Given the description of an element on the screen output the (x, y) to click on. 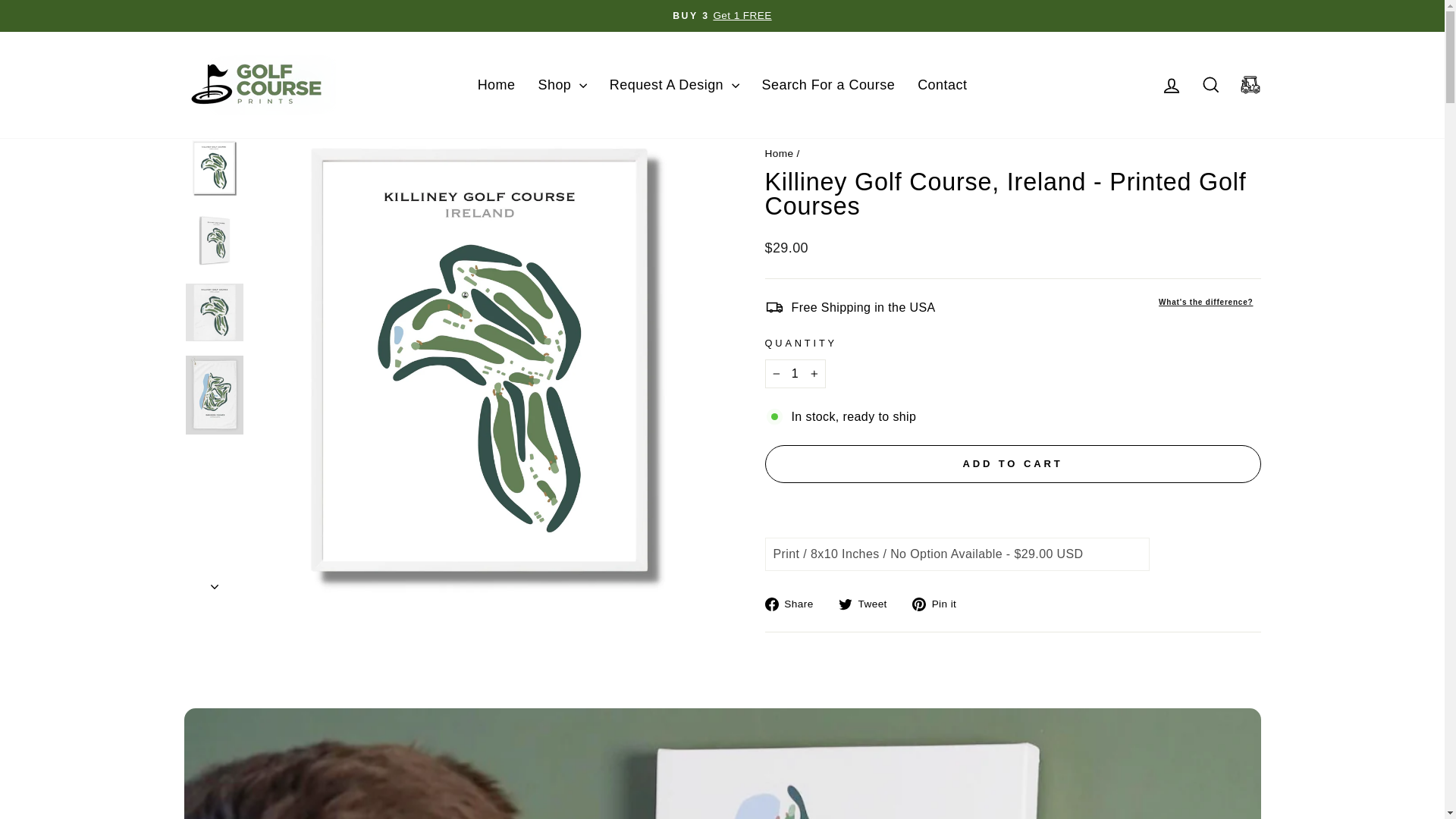
Tweet on Twitter (868, 603)
Back to the frontpage (1210, 83)
Pin on Pinterest (778, 153)
icon-search (940, 603)
Home (1171, 83)
Contact (1210, 84)
1 (496, 84)
BUY 3Get 1 FREE (941, 84)
account (794, 373)
Share on Facebook (722, 15)
icon-chevron (1170, 85)
Cart (794, 603)
